Given the description of an element on the screen output the (x, y) to click on. 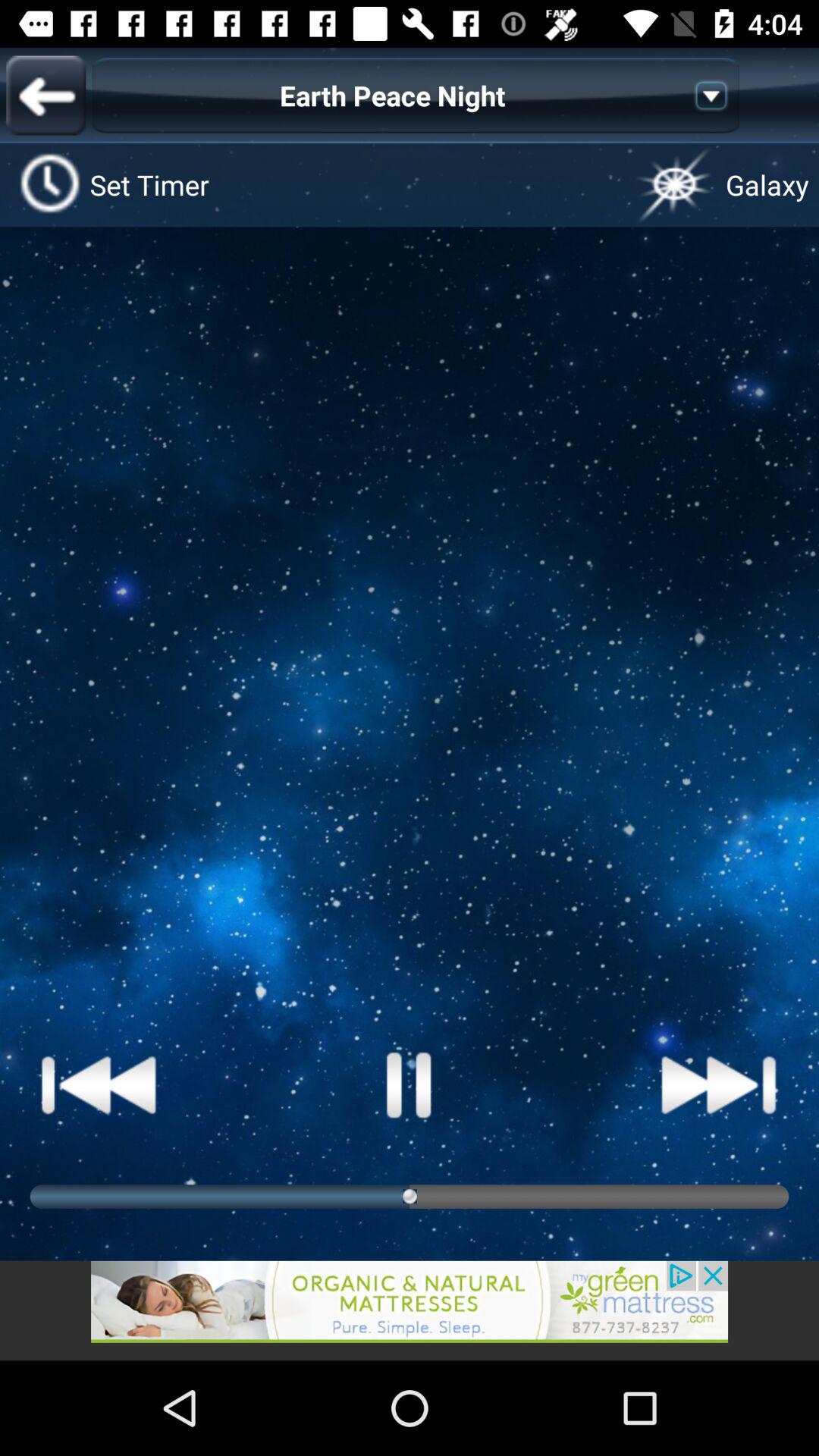
start page (409, 1084)
